Given the description of an element on the screen output the (x, y) to click on. 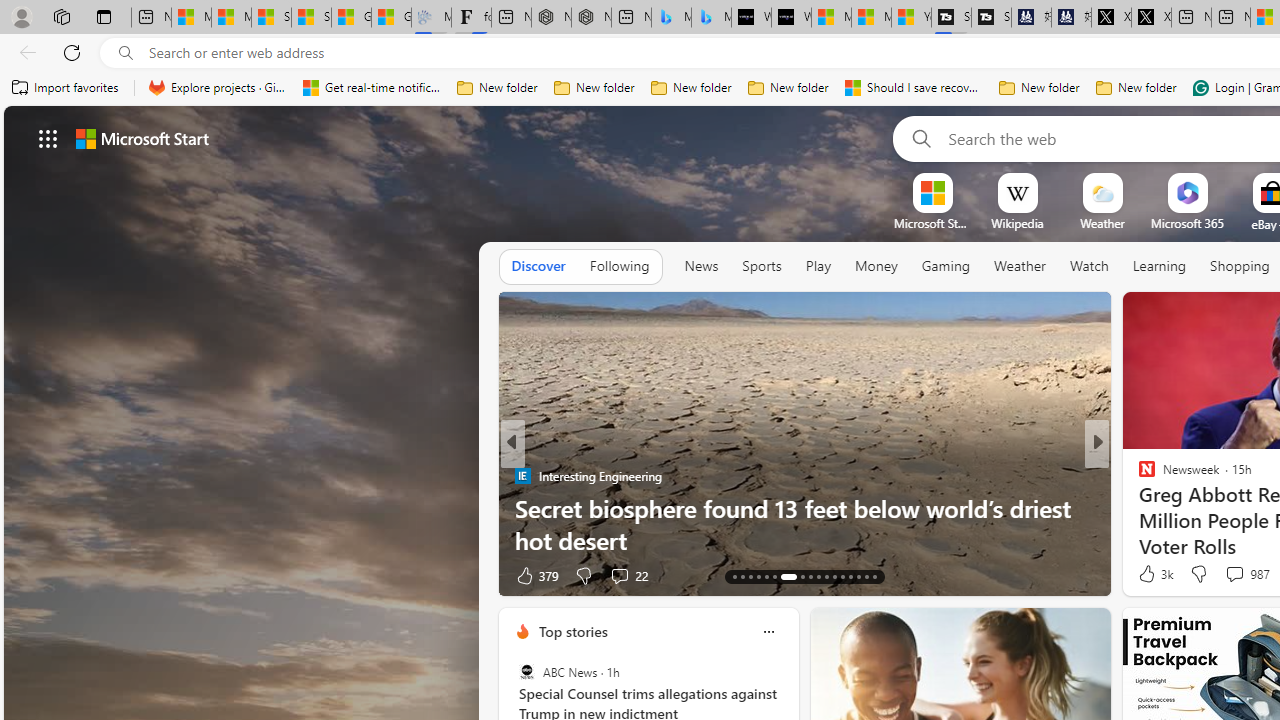
View comments 18 Comment (1244, 574)
Class: control (47, 138)
View comments 174 Comment (1234, 575)
PsychLove (1138, 475)
View comments 2 Comment (1229, 575)
Interesting Engineering (522, 475)
POLITICO (1138, 475)
